Given the description of an element on the screen output the (x, y) to click on. 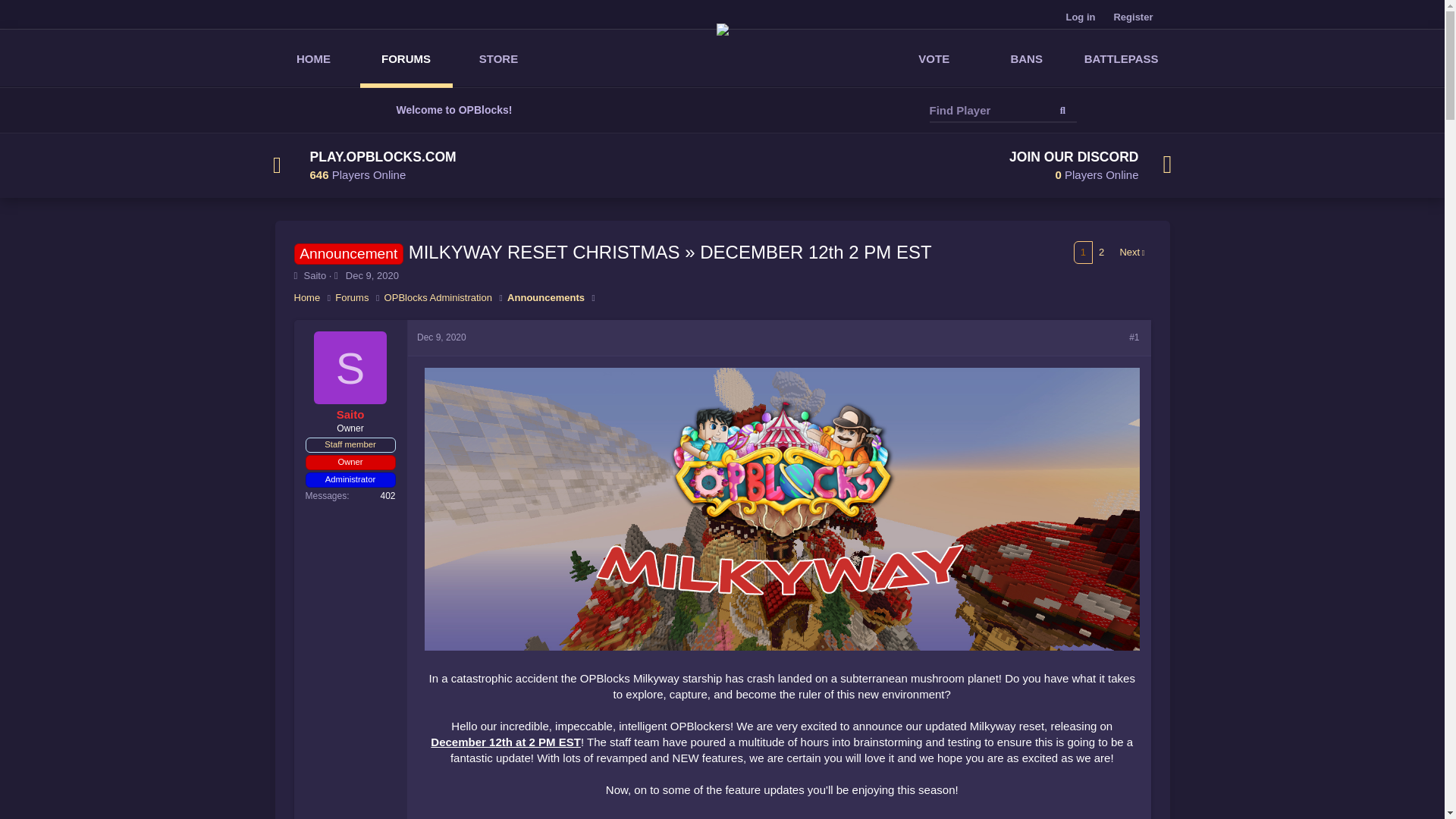
Forums (351, 297)
Log in (1080, 17)
OPBlocks Administration (438, 297)
S (949, 165)
FORUMS (350, 367)
BANS (405, 58)
Dec 9, 2020 at 7:09 PM (1026, 58)
Dec 9, 2020 at 7:09 PM (372, 275)
Home (440, 337)
STORE (307, 297)
Announcements (497, 58)
Saito (545, 297)
Next (314, 275)
